Given the description of an element on the screen output the (x, y) to click on. 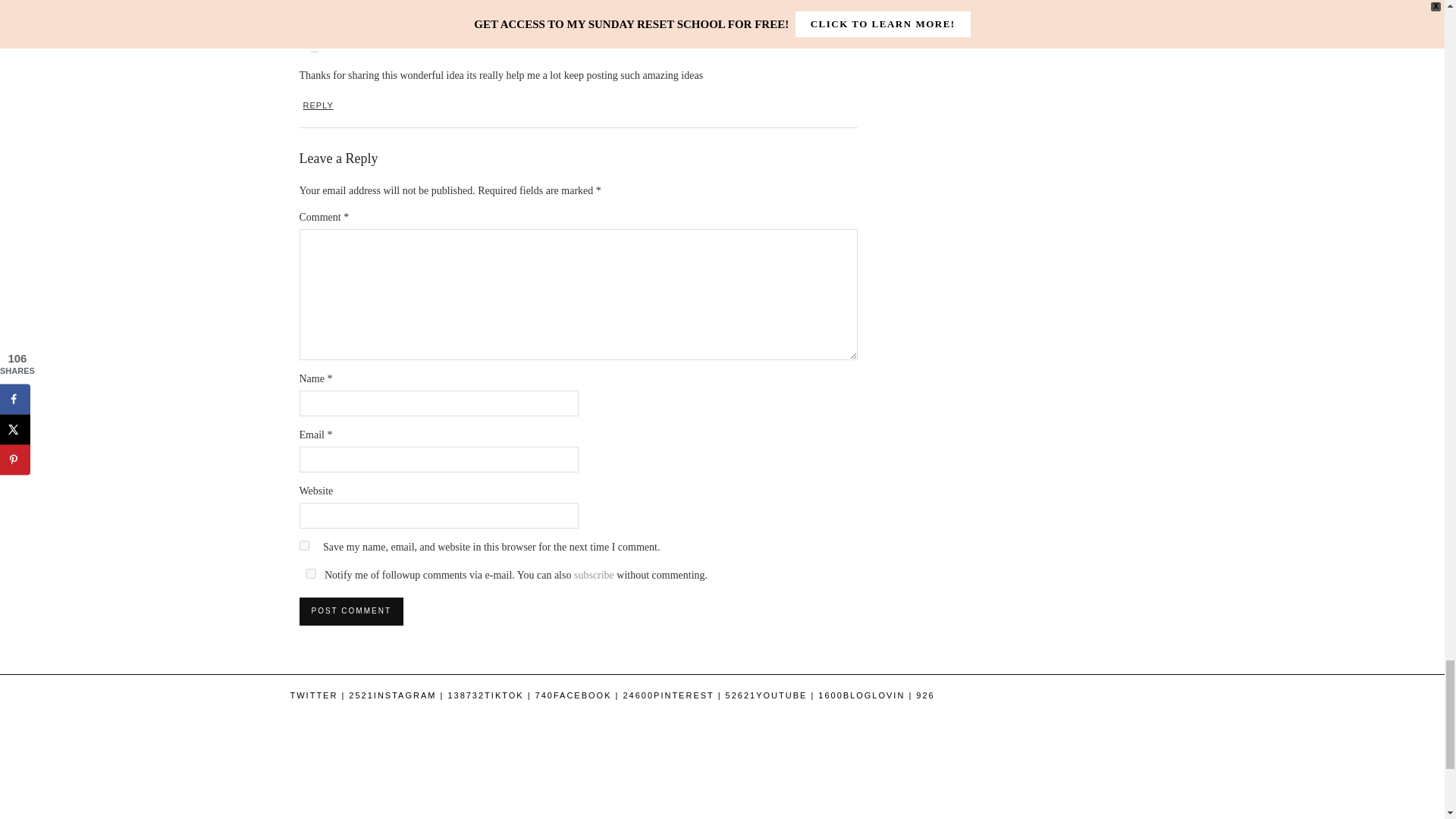
yes (303, 545)
Post Comment (350, 610)
yes (309, 573)
